Given the description of an element on the screen output the (x, y) to click on. 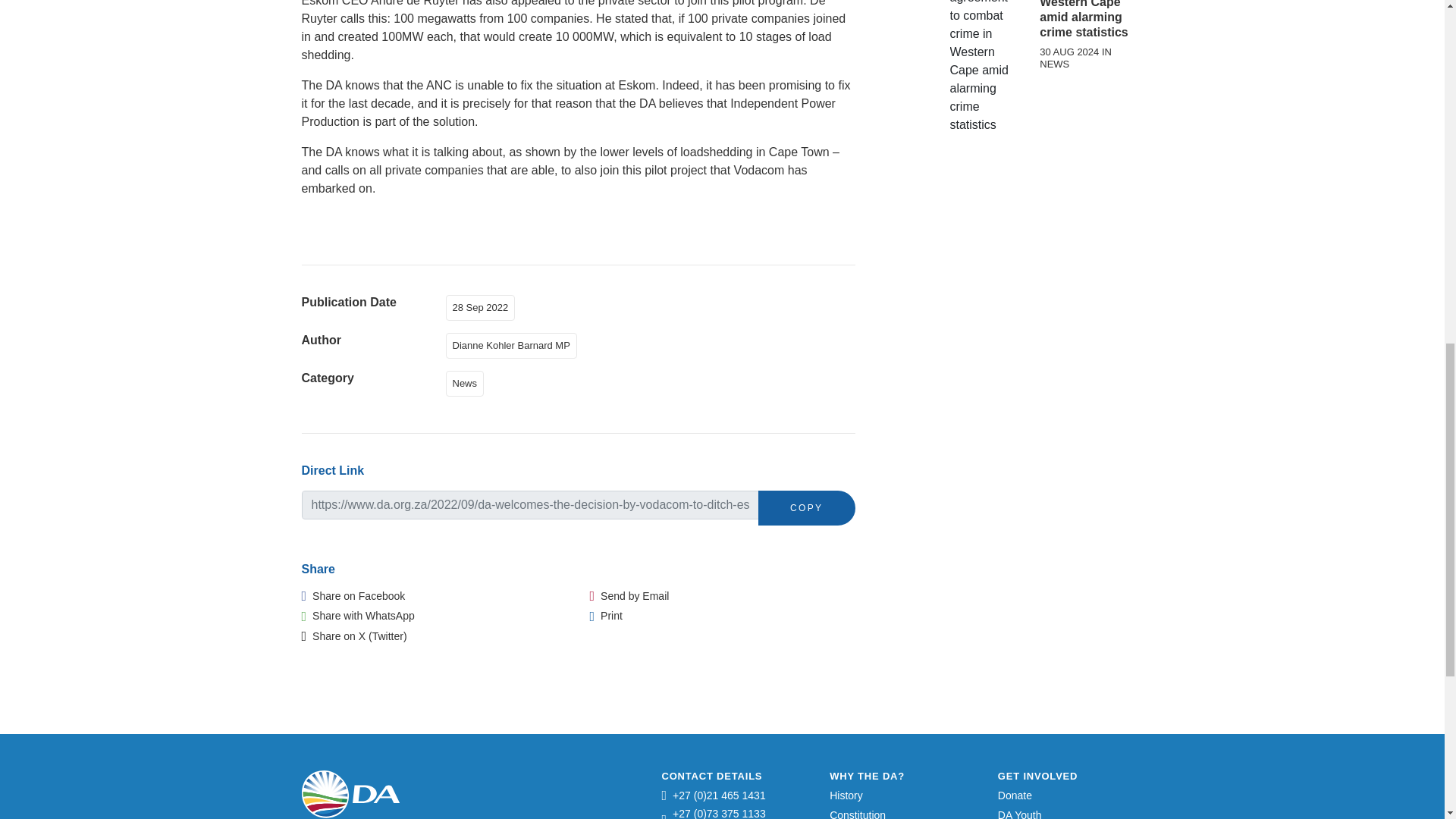
Democratic Alliance Logo (350, 794)
Share with WhatsApp (357, 615)
Send by Email (629, 595)
COPY (807, 507)
News (467, 382)
Share on Facebook (353, 595)
